Given the description of an element on the screen output the (x, y) to click on. 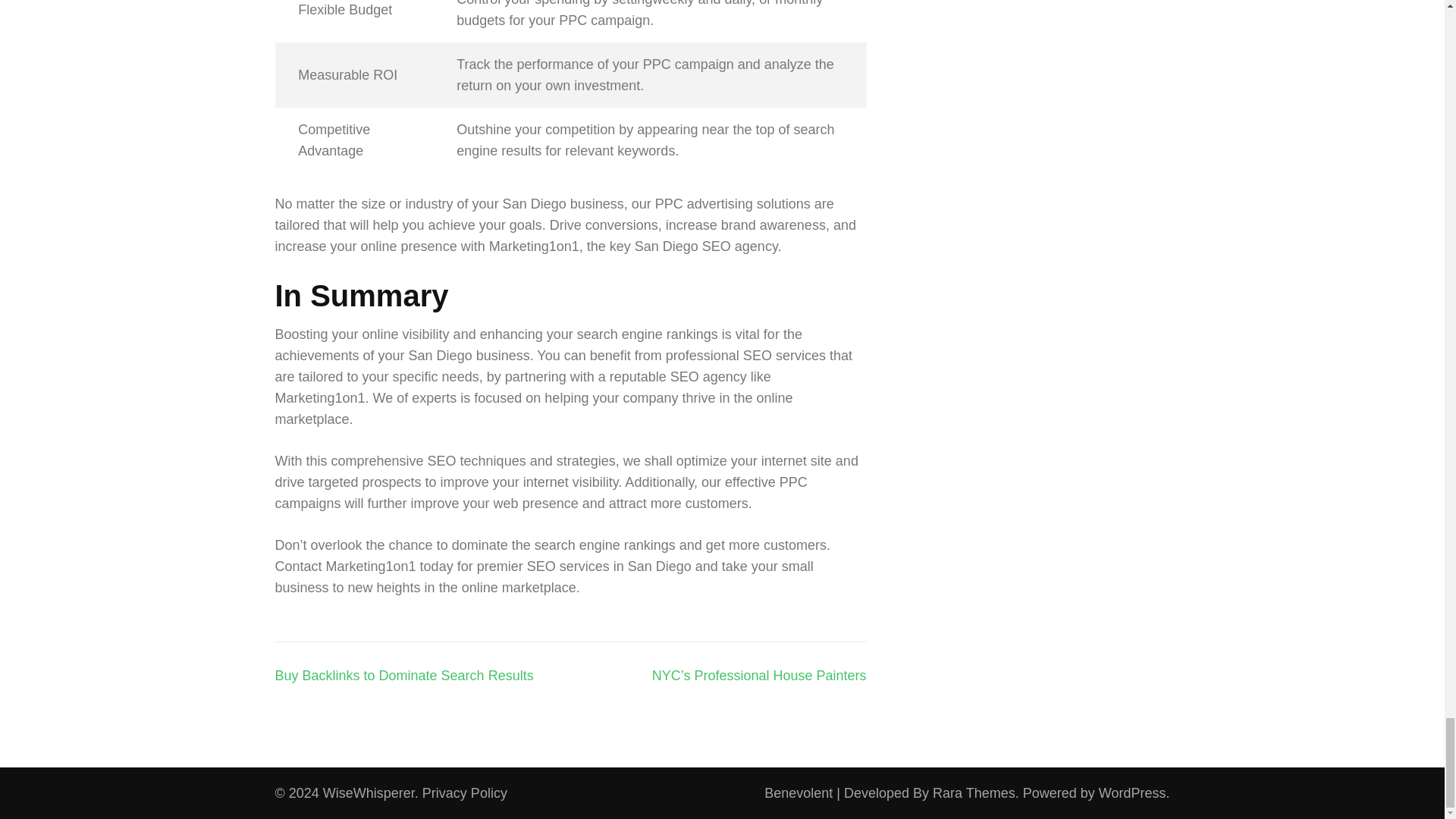
Buy Backlinks to Dominate Search Results (403, 675)
